Given the description of an element on the screen output the (x, y) to click on. 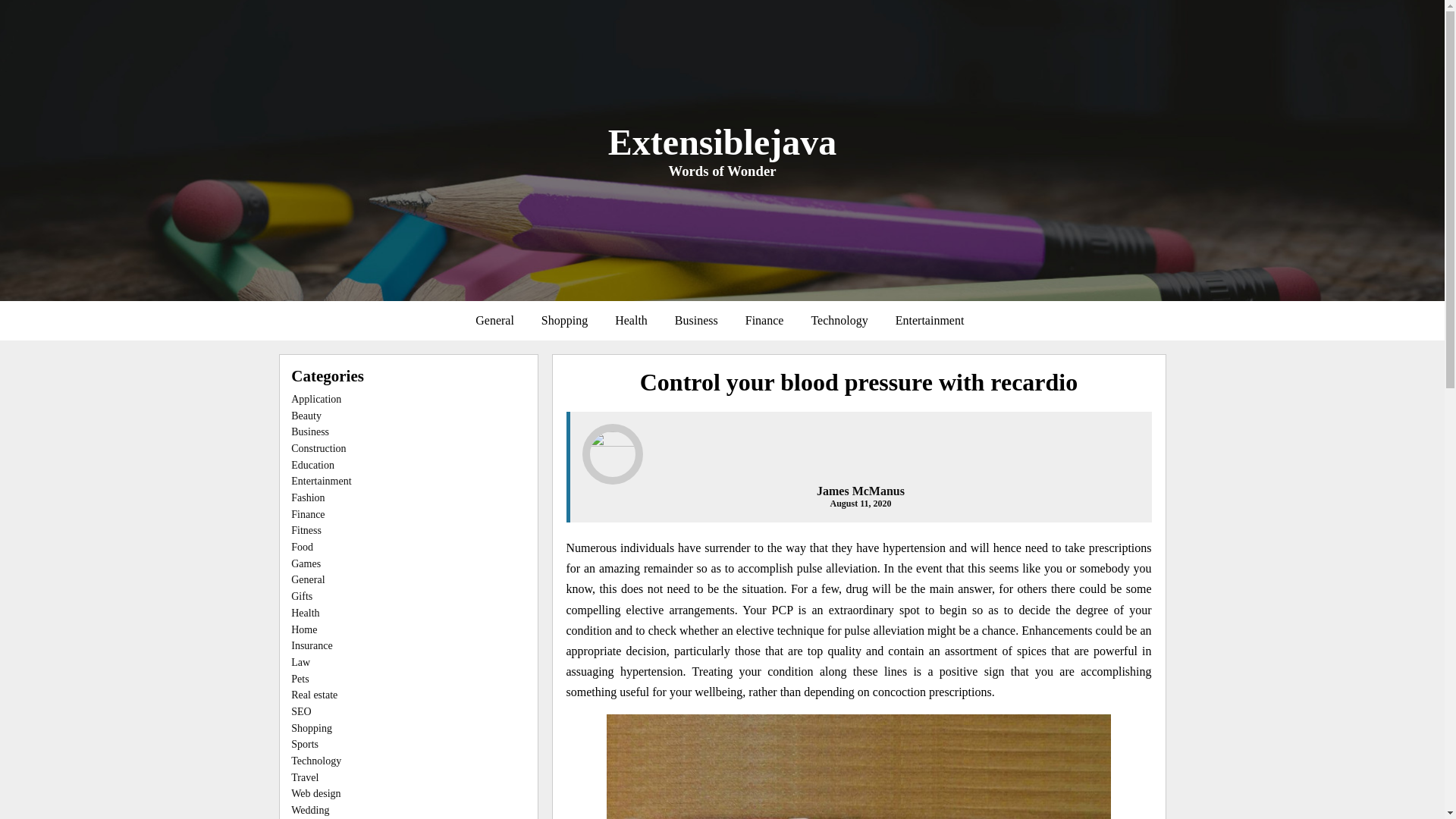
James McManus (860, 490)
View all posts by James McManus (860, 490)
Health (304, 613)
Insurance (311, 645)
Shopping (564, 320)
General (307, 579)
Web design (315, 793)
Real estate (314, 695)
Business (696, 320)
Extensiblejava (721, 142)
Gifts (302, 595)
Finance (307, 514)
Education (312, 464)
Home (304, 628)
Games (305, 563)
